Given the description of an element on the screen output the (x, y) to click on. 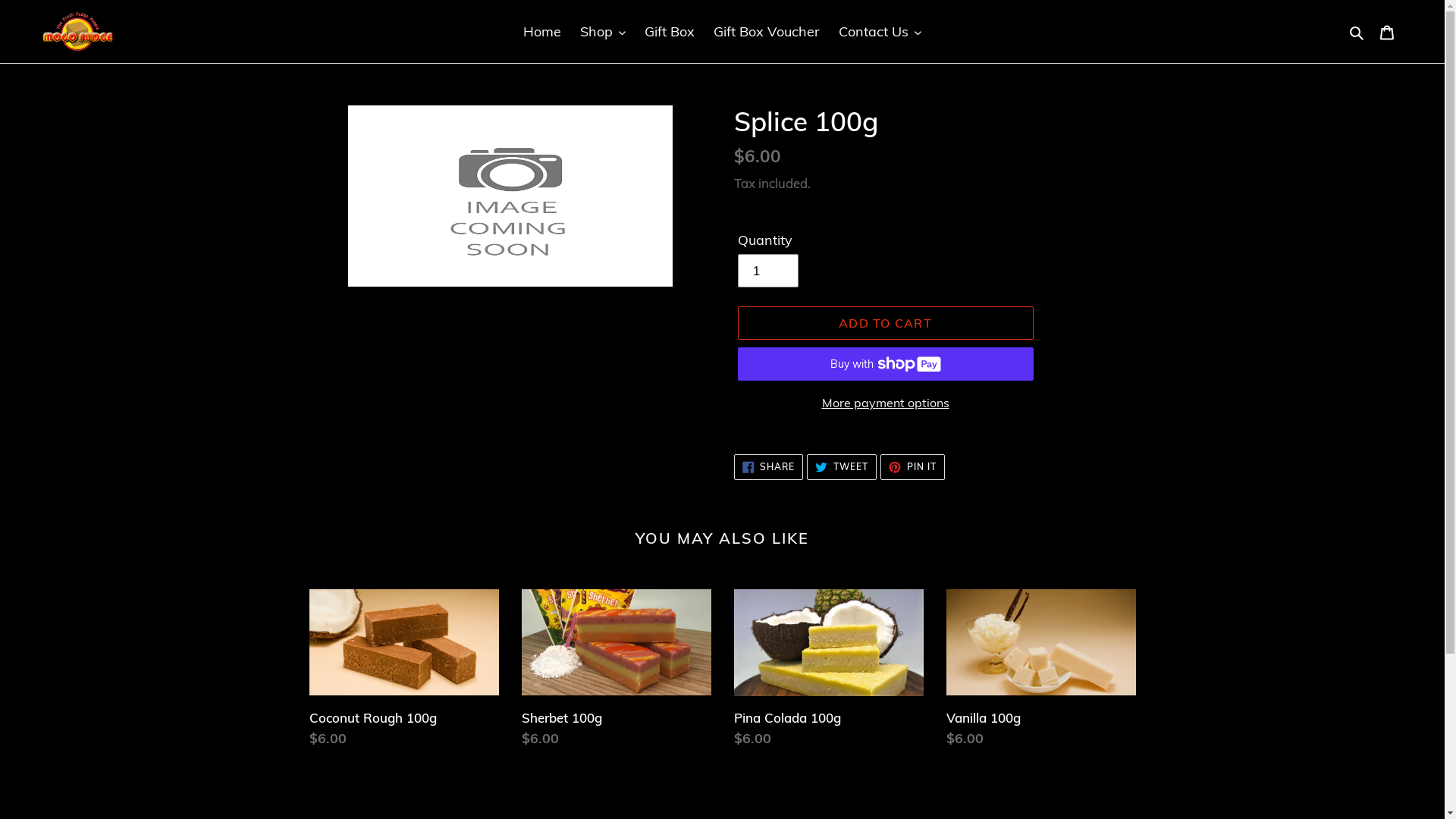
Gift Box Voucher Element type: text (766, 30)
PIN IT
PIN ON PINTEREST Element type: text (912, 467)
ADD TO CART Element type: text (884, 322)
Pina Colada 100g Element type: text (828, 671)
Search Element type: text (1357, 31)
More payment options Element type: text (884, 402)
Home Element type: text (541, 30)
Coconut Rough 100g Element type: text (403, 671)
SHARE
SHARE ON FACEBOOK Element type: text (768, 467)
Gift Box Element type: text (669, 30)
Contact Us Element type: text (879, 30)
TWEET
TWEET ON TWITTER Element type: text (841, 467)
Sherbet 100g Element type: text (616, 671)
Shop Element type: text (602, 30)
Vanilla 100g Element type: text (1040, 671)
Cart Element type: text (1386, 31)
